Given the description of an element on the screen output the (x, y) to click on. 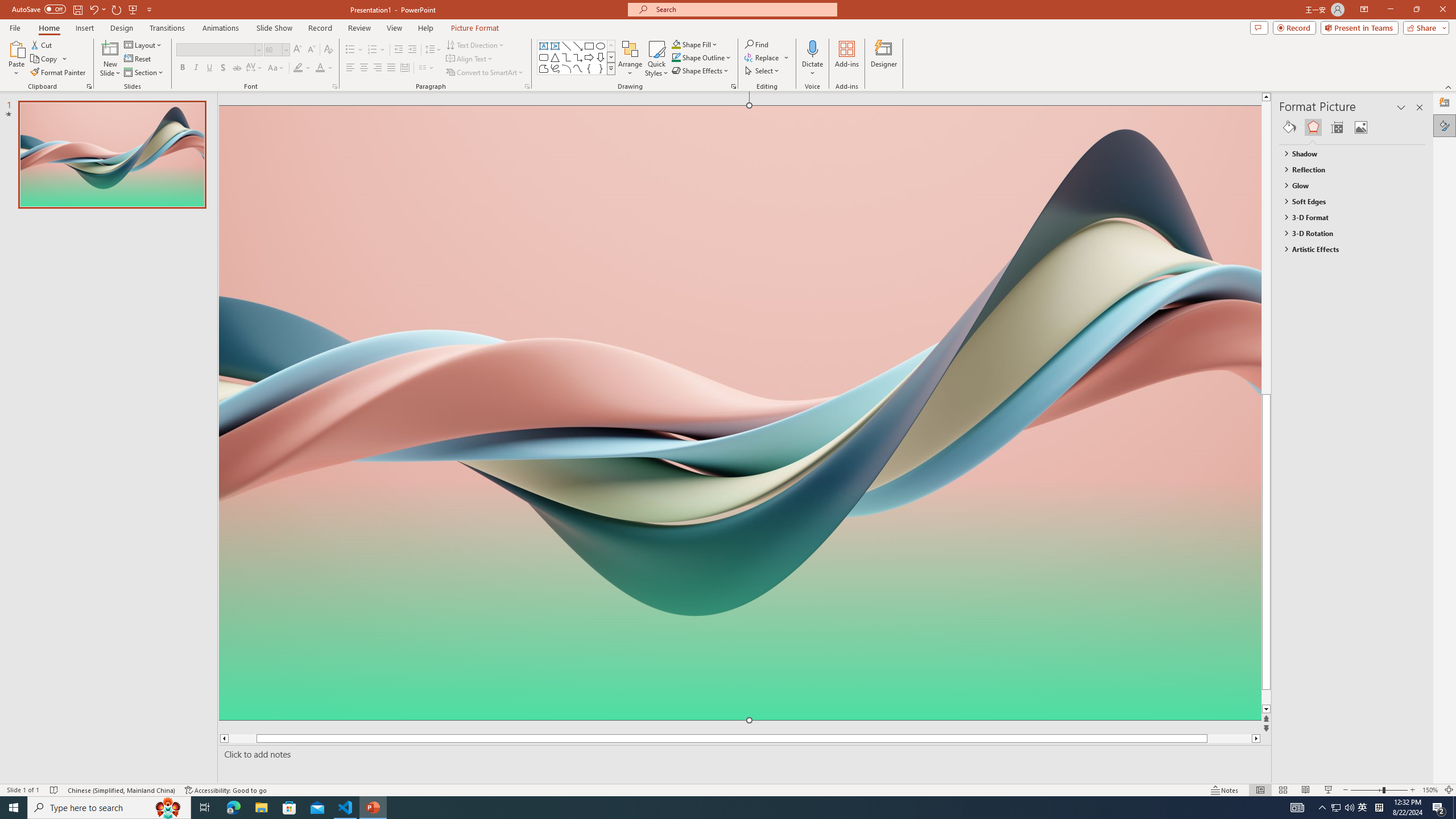
Shape Fill (694, 44)
Present in Teams (1359, 27)
Reading View (1305, 790)
Class: NetUIGalleryContainer (1352, 126)
Arrange (630, 58)
Numbering (376, 49)
Line down (1287, 709)
Copy (45, 58)
Share (1423, 27)
Font (215, 49)
Task Pane Options (1400, 107)
Italic (195, 67)
Picture Format (475, 28)
Increase Indent (412, 49)
Decrease Font Size (310, 49)
